Given the description of an element on the screen output the (x, y) to click on. 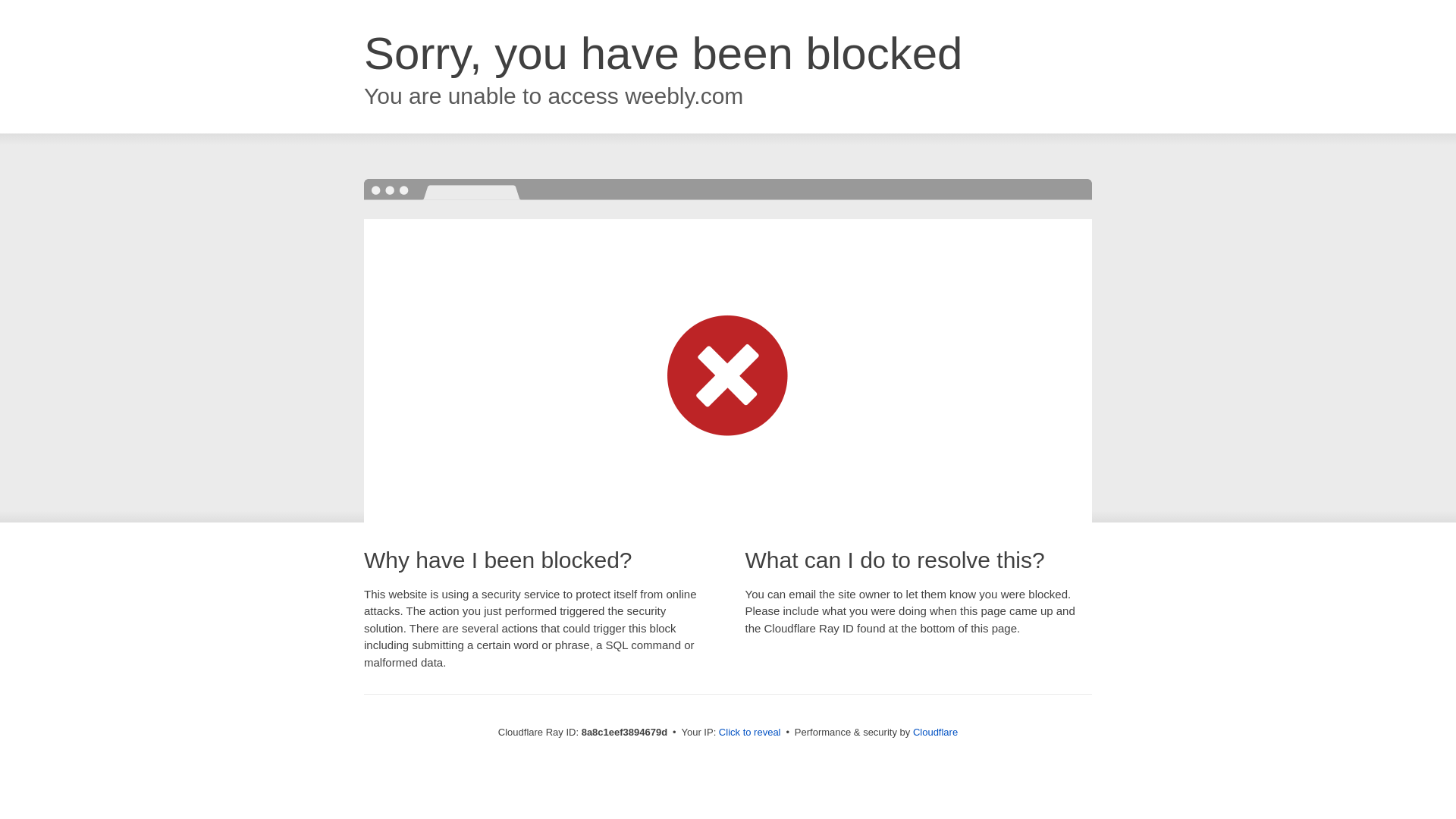
Cloudflare (935, 731)
Click to reveal (749, 732)
